Given the description of an element on the screen output the (x, y) to click on. 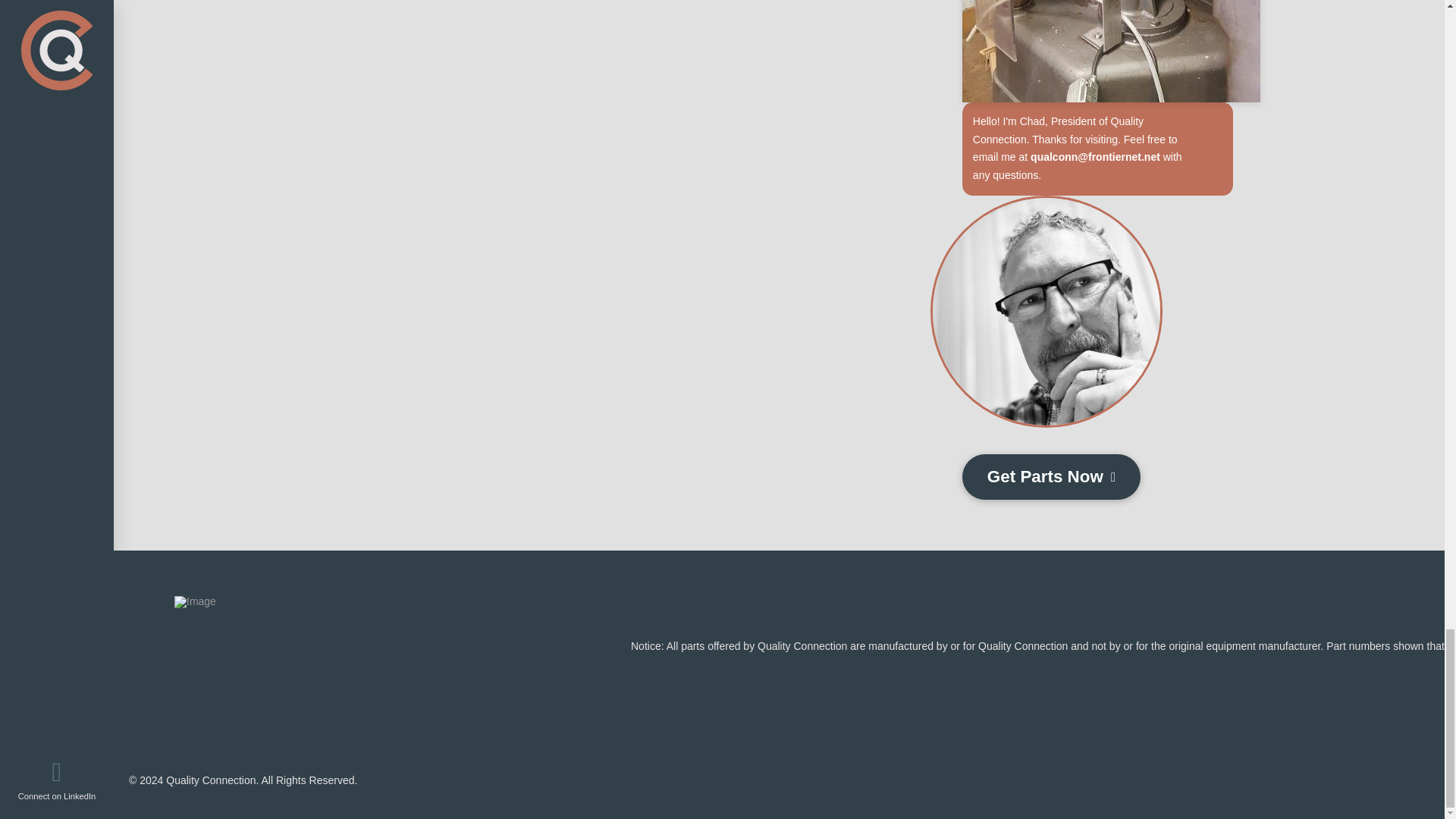
Get Parts Now (1051, 476)
